Given the description of an element on the screen output the (x, y) to click on. 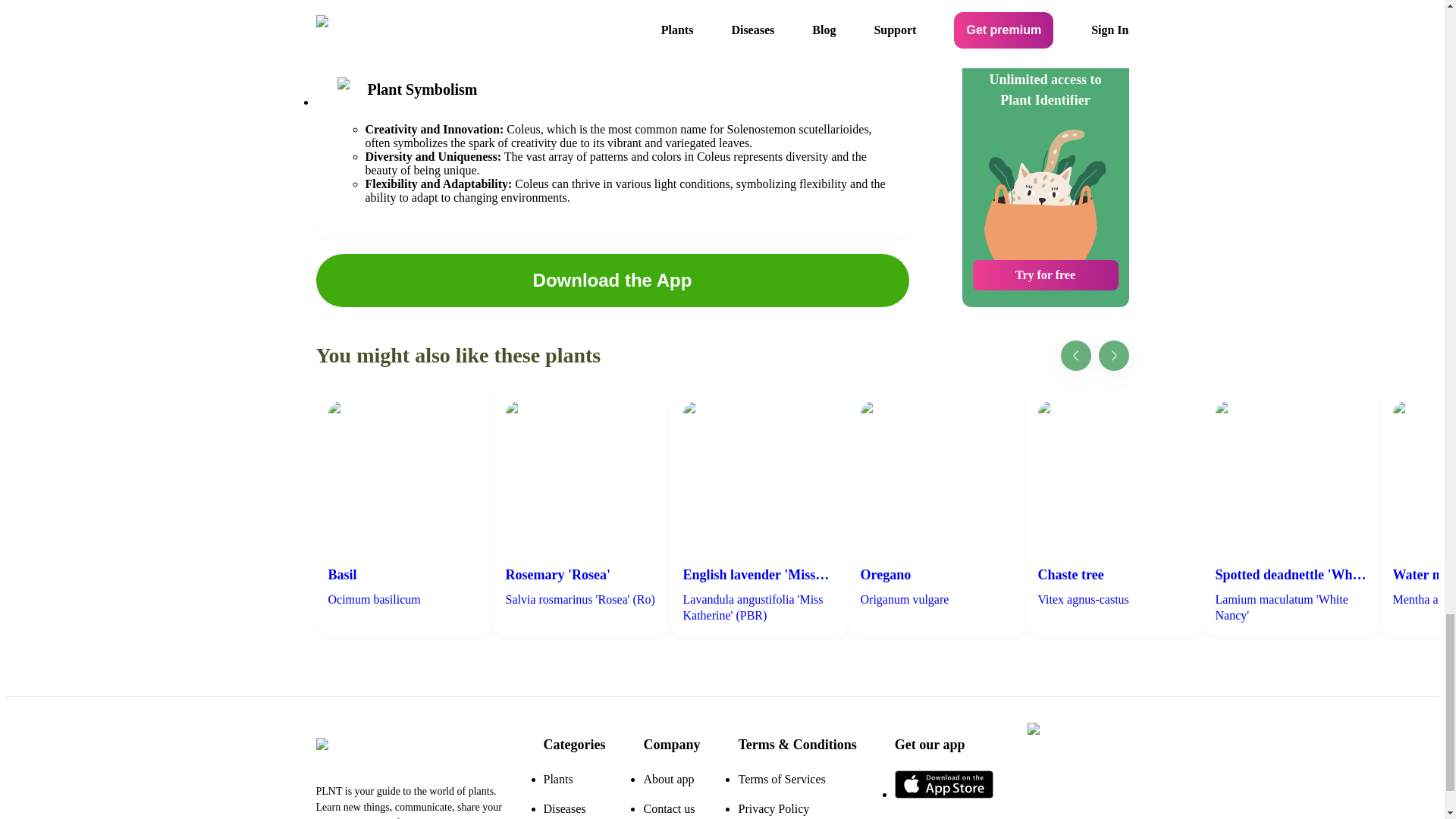
Diseases (564, 808)
Download the App (612, 280)
Contact us (668, 808)
Plants (557, 779)
Terms of Services (781, 779)
Download the App (611, 280)
About app (668, 779)
Privacy Policy (773, 808)
